Given the description of an element on the screen output the (x, y) to click on. 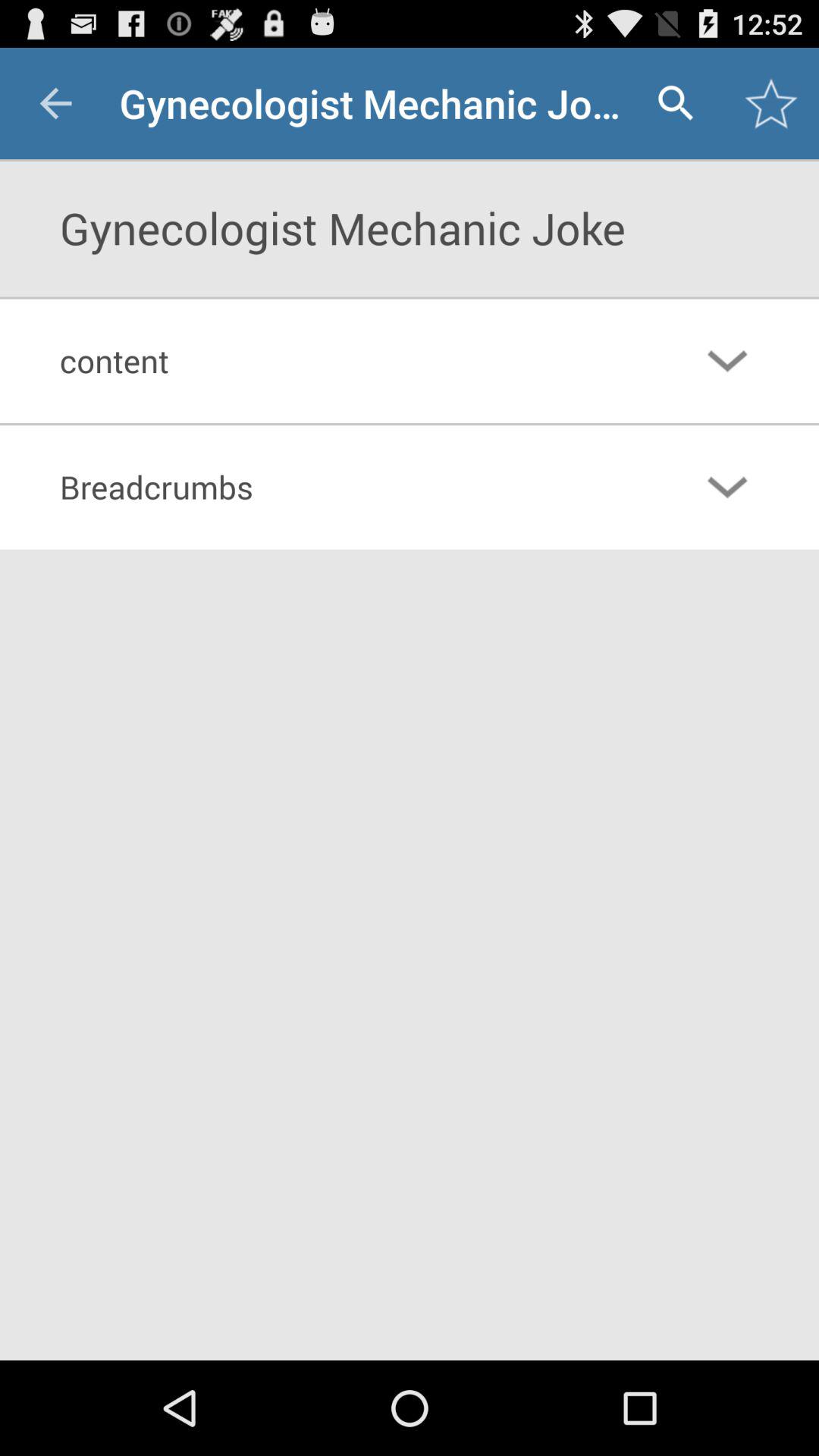
launch breadcrumbs item (347, 486)
